Given the description of an element on the screen output the (x, y) to click on. 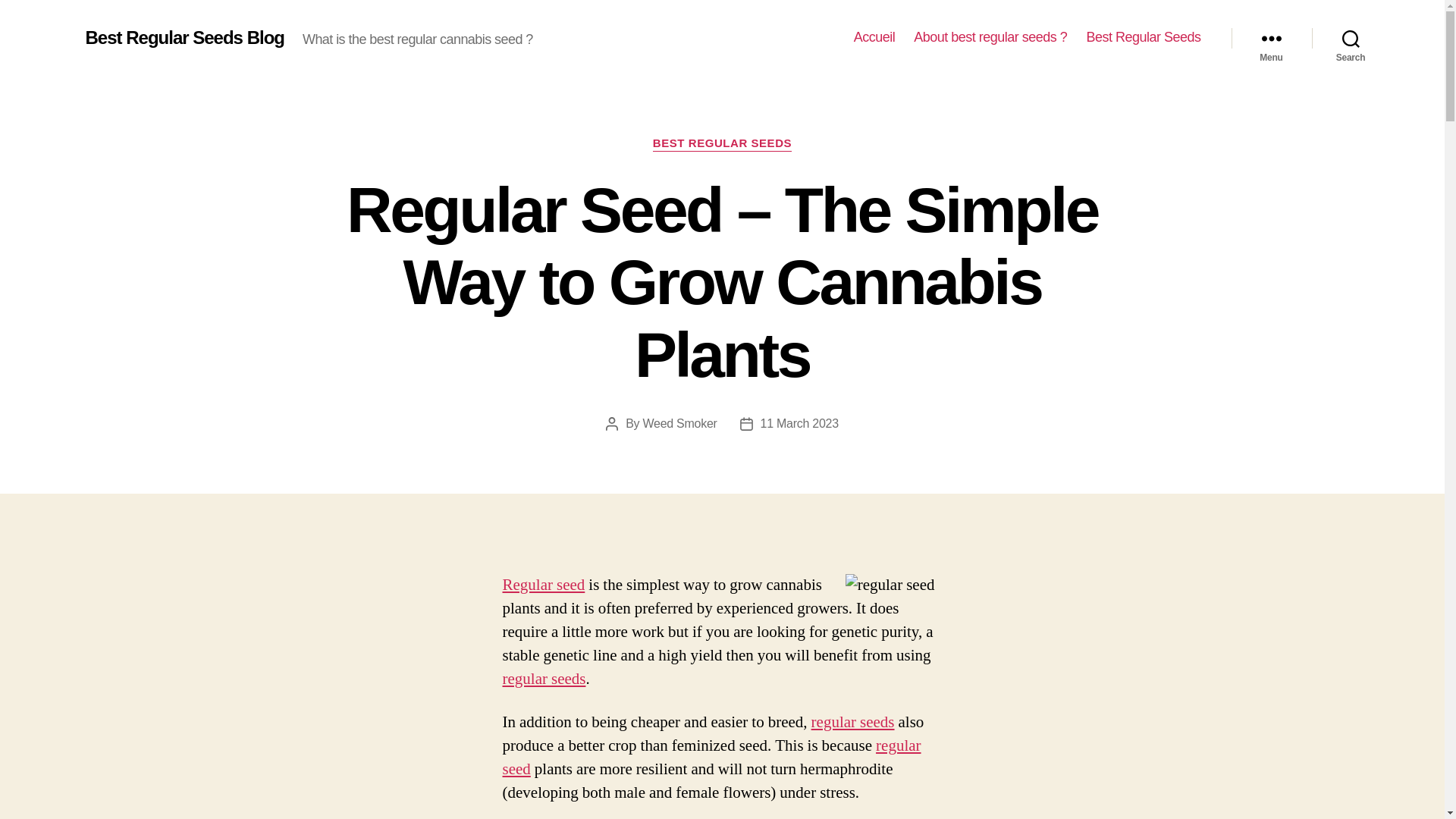
Regular seed (543, 584)
regular seeds (543, 679)
regular seed (711, 757)
BEST REGULAR SEEDS (722, 143)
About best regular seeds ? (990, 37)
regular seeds (852, 721)
Weed Smoker (679, 422)
Best Regular Seeds (1142, 37)
11 March 2023 (799, 422)
Menu (1271, 37)
